Given the description of an element on the screen output the (x, y) to click on. 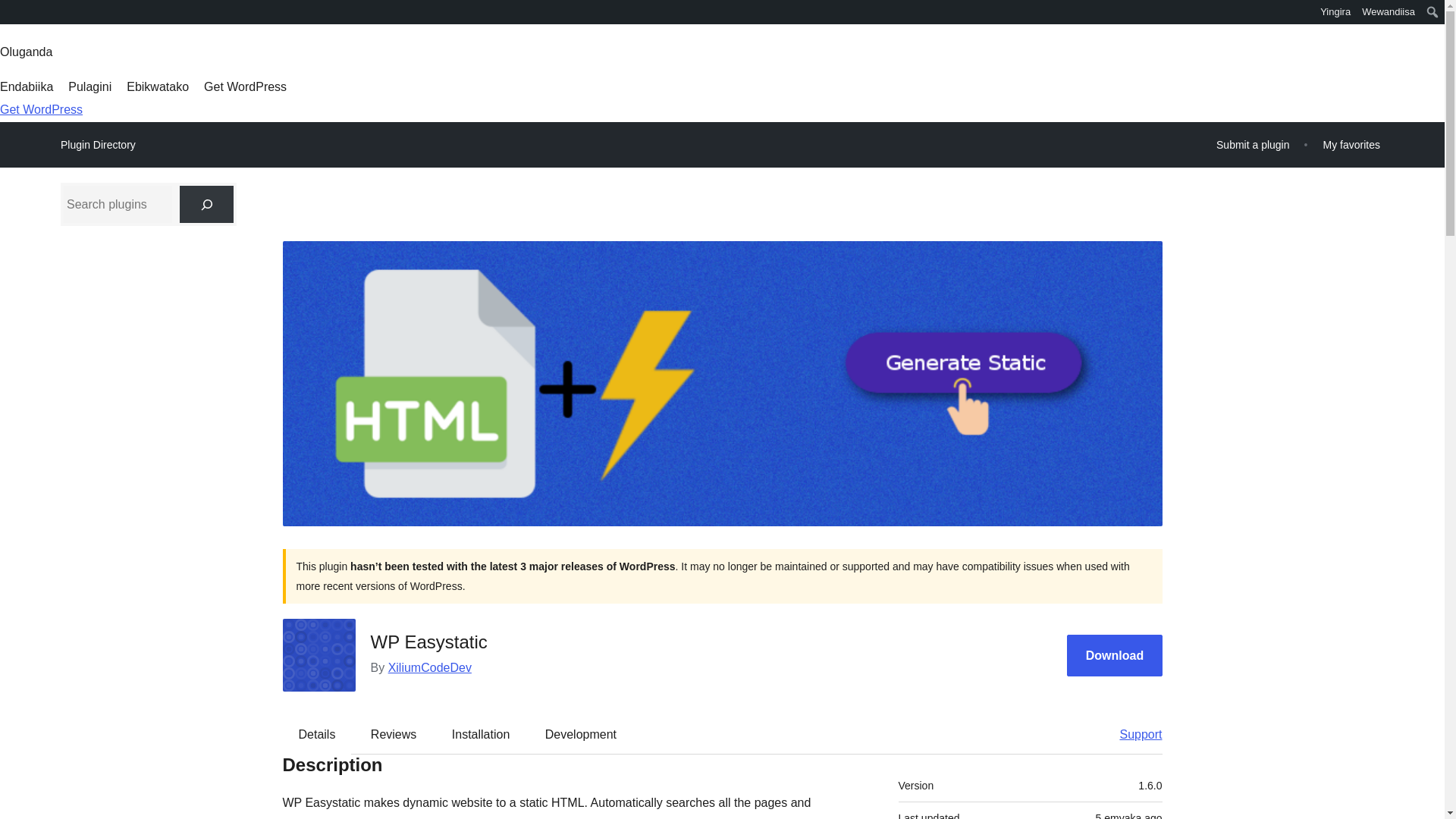
Wewandiisa (1388, 12)
XiliumCodeDev (429, 667)
Installation (480, 733)
WordPress.org (10, 16)
Get WordPress (244, 87)
Support (1132, 733)
WordPress.org (10, 10)
Pulagini (90, 87)
Development (580, 733)
Endabiika (26, 87)
